Given the description of an element on the screen output the (x, y) to click on. 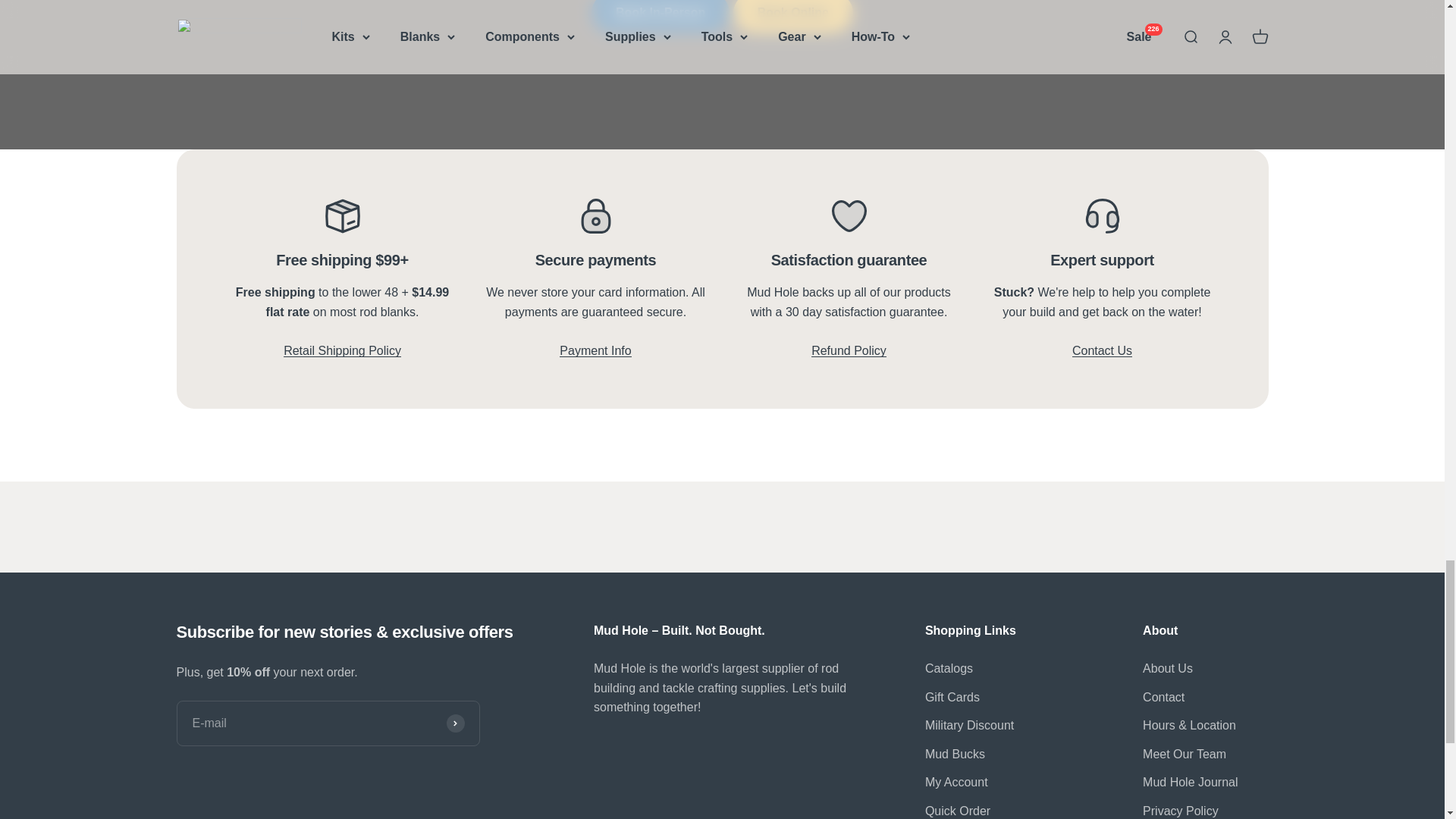
Shipping Policy (342, 350)
Terms of Service (594, 359)
Contact Us (1101, 359)
Refund Policy (848, 359)
